Given the description of an element on the screen output the (x, y) to click on. 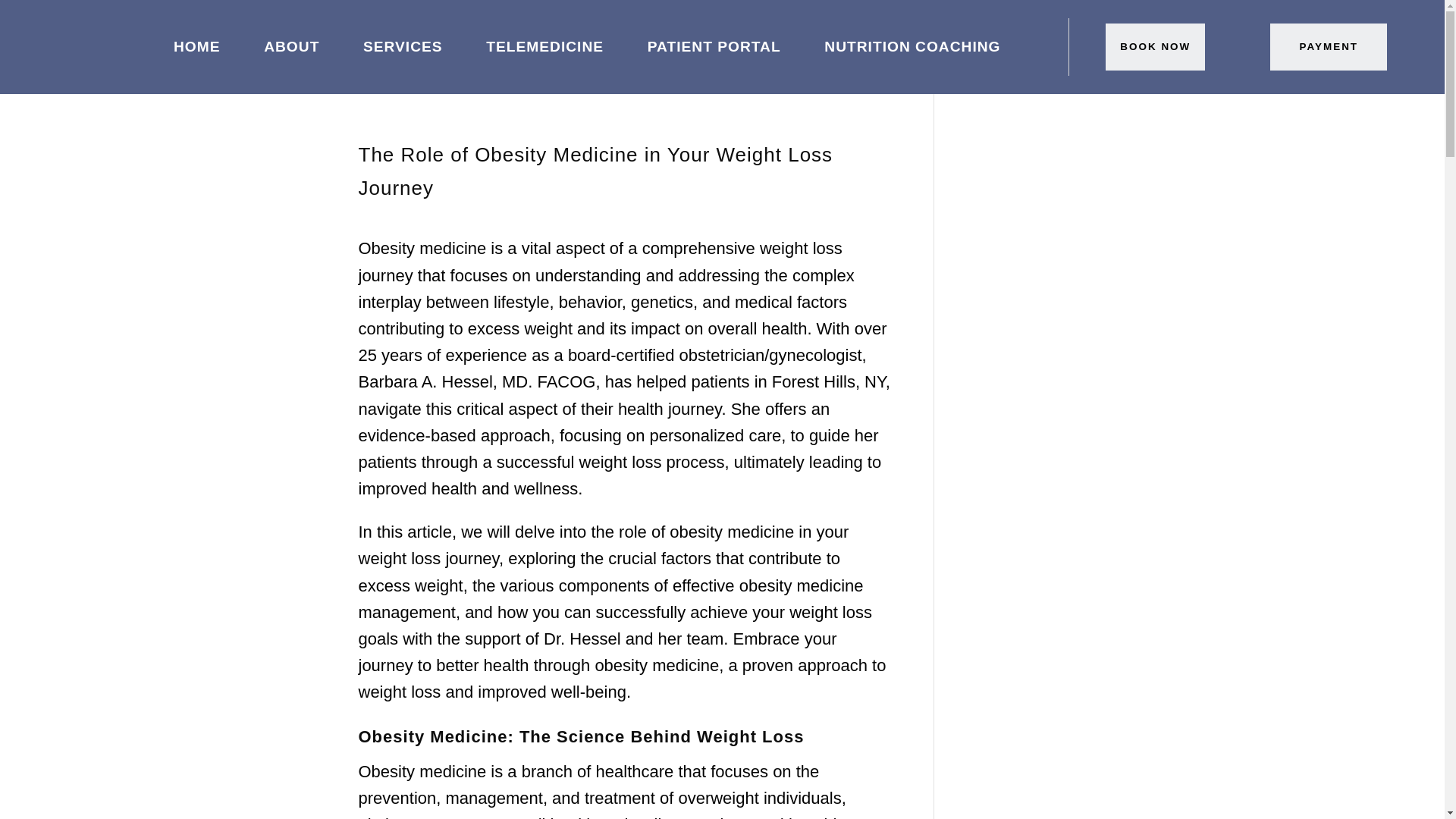
PATIENT PORTAL (713, 47)
BOOK NOW (1155, 46)
ABOUT (290, 47)
SERVICES (402, 47)
TELEMEDICINE (545, 47)
PAYMENT (1328, 46)
NUTRITION COACHING (912, 47)
